Given the description of an element on the screen output the (x, y) to click on. 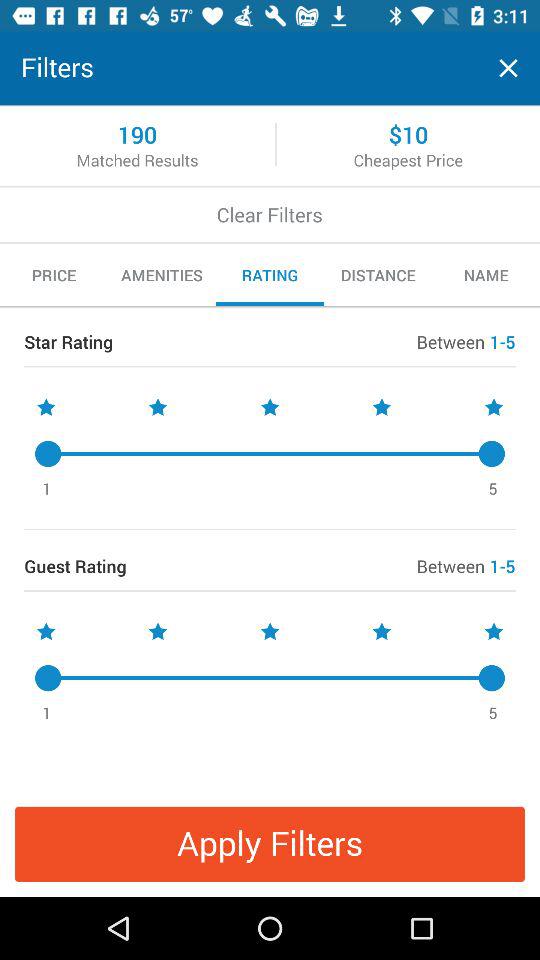
turn on the item below the 1 (269, 843)
